Given the description of an element on the screen output the (x, y) to click on. 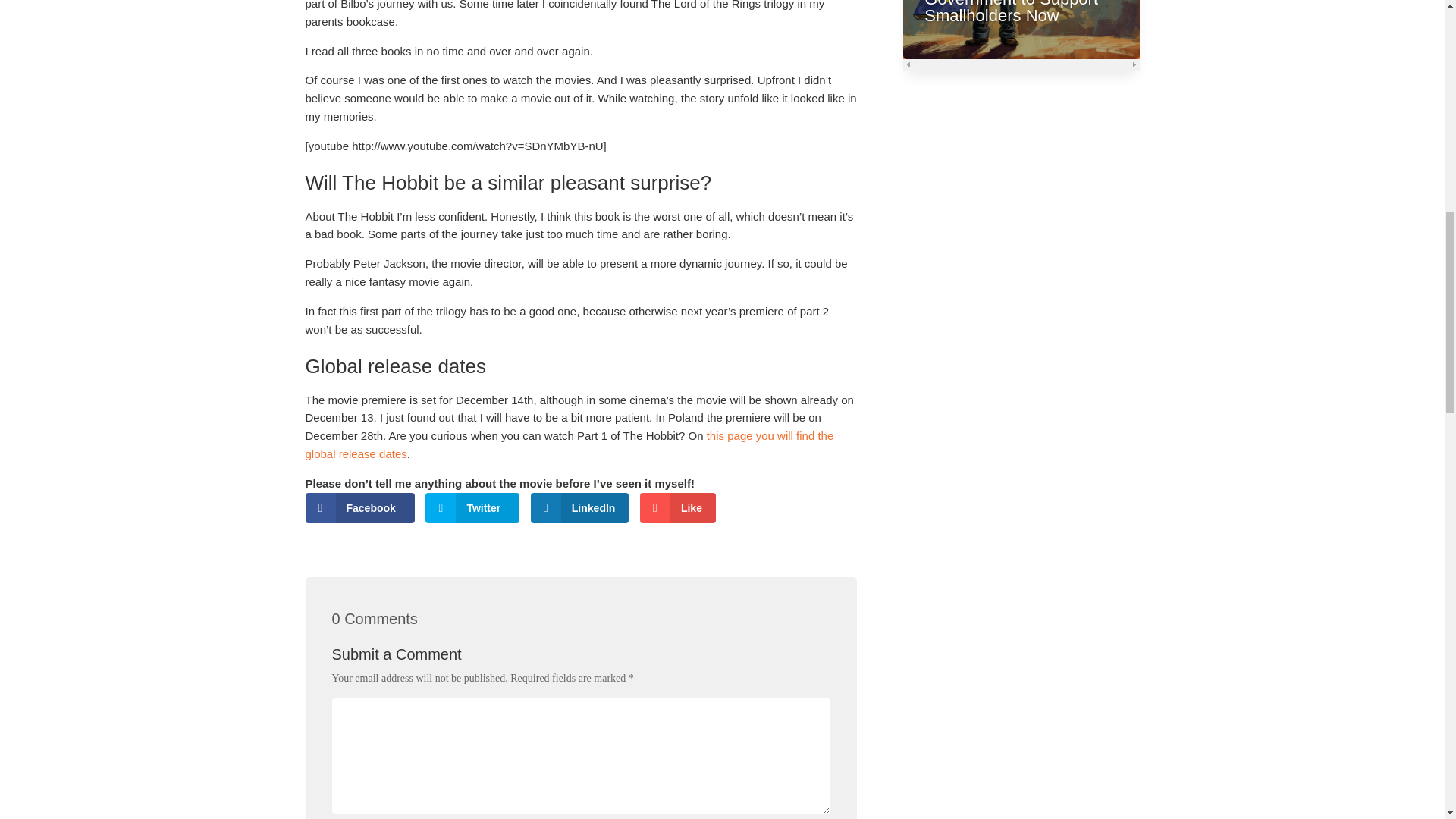
this page you will find the global release dates (568, 444)
The Hobbit part 1 (568, 444)
Twitter (472, 508)
Facebook (358, 508)
Like (678, 508)
LinkedIn (579, 508)
